Given the description of an element on the screen output the (x, y) to click on. 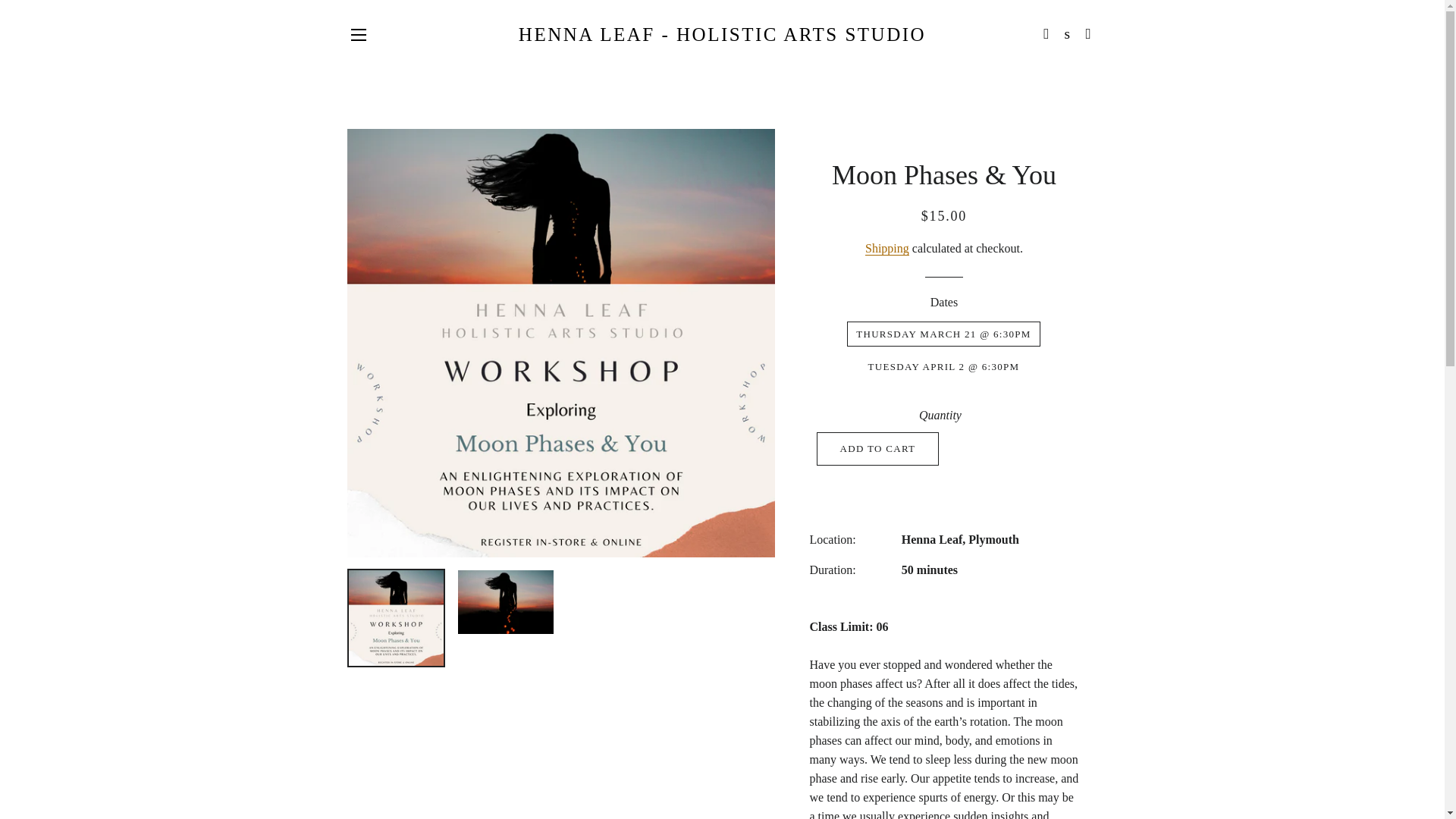
SITE NAVIGATION (358, 34)
Shipping (886, 248)
ADD TO CART (877, 449)
HENNA LEAF - HOLISTIC ARTS STUDIO (721, 34)
